Given the description of an element on the screen output the (x, y) to click on. 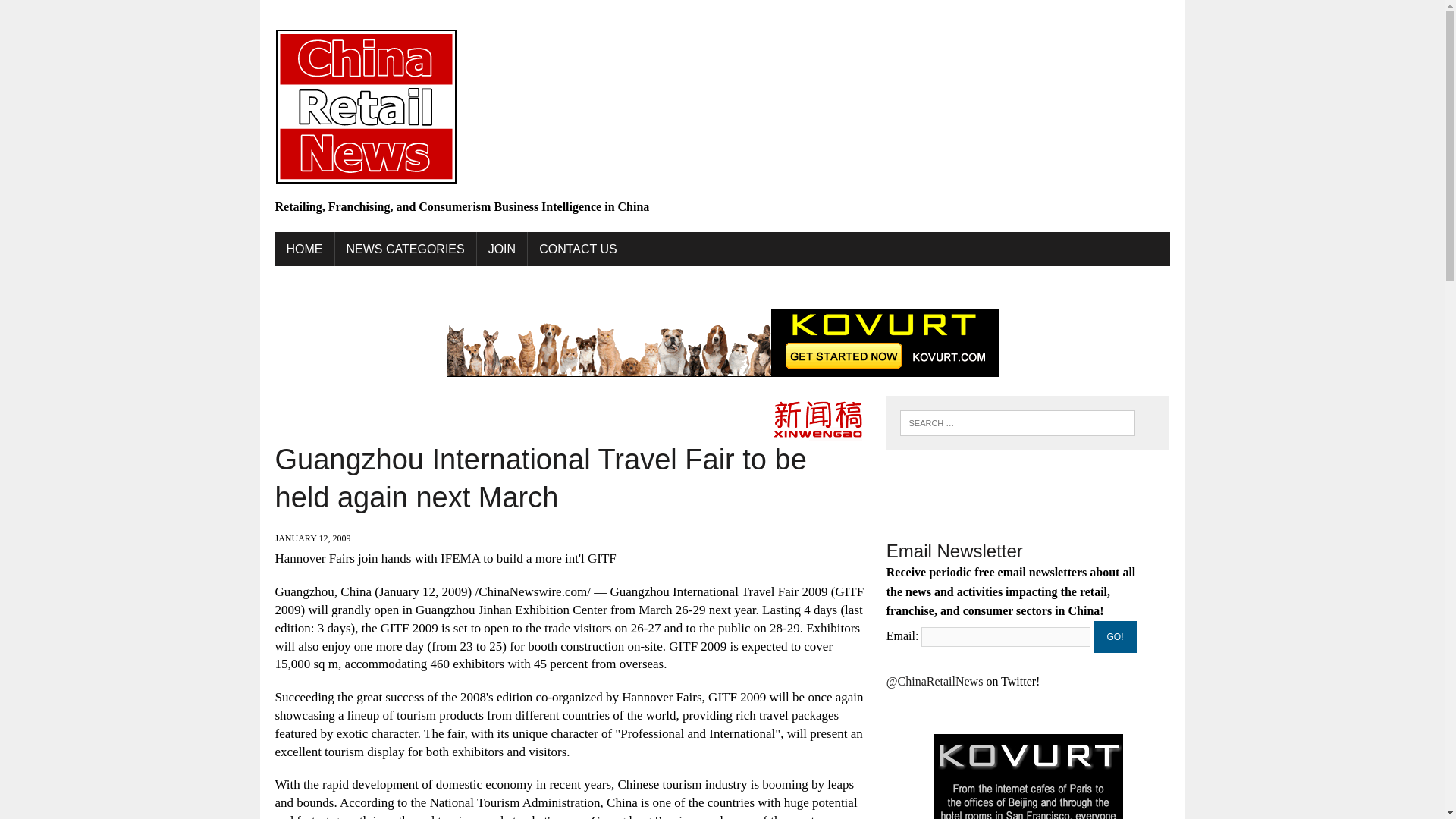
HOME (304, 248)
NEWS CATEGORIES (405, 248)
Contact Us (577, 248)
 GO!  (1115, 636)
JOIN (502, 248)
CONTACT US (577, 248)
Join (502, 248)
Search (75, 14)
 GO!  (1115, 636)
